Given the description of an element on the screen output the (x, y) to click on. 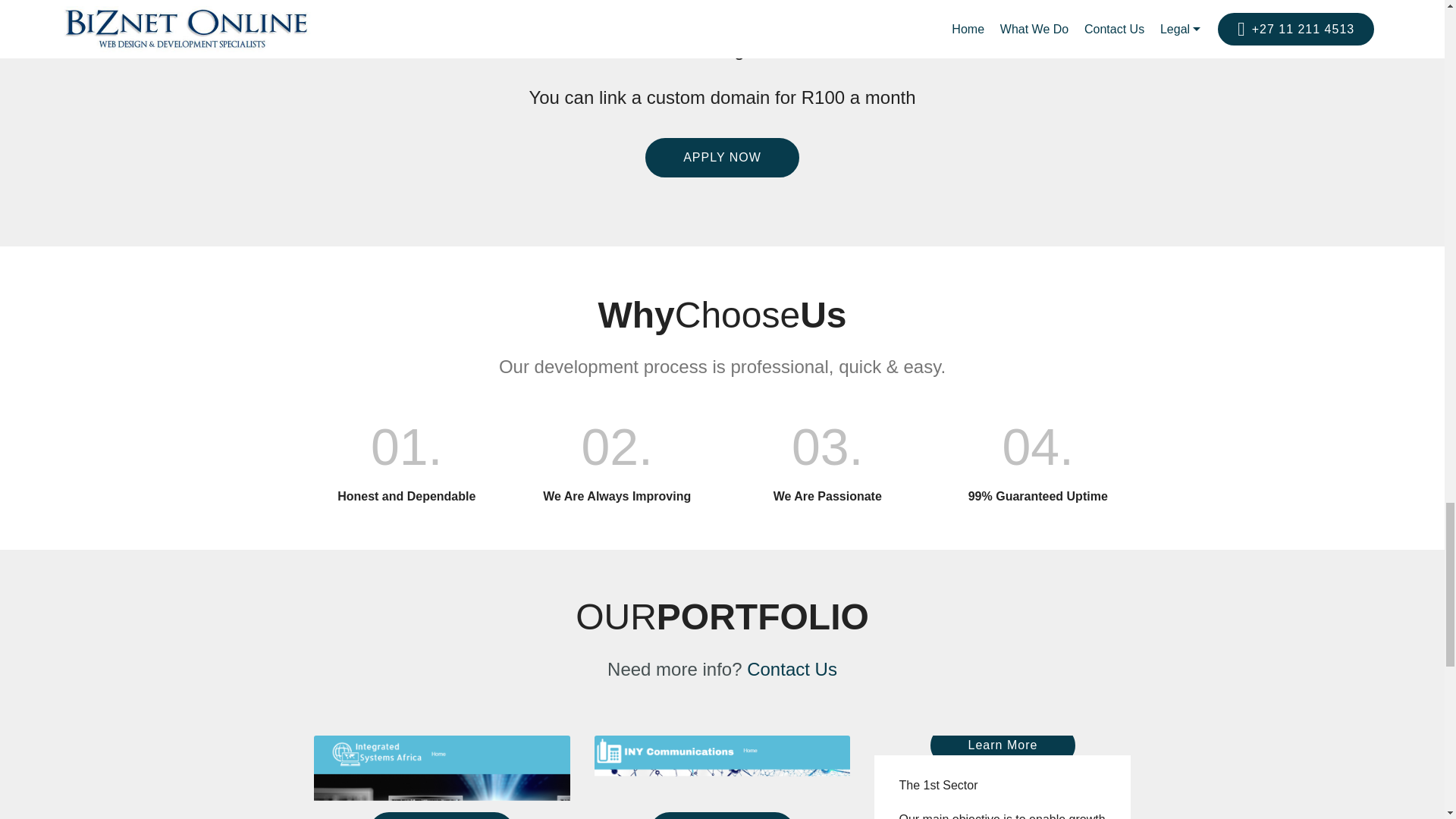
Learn More (1002, 744)
Learn More (721, 815)
INY Comms (722, 777)
ISA IT (442, 777)
APPLY NOW (722, 157)
Contact Us (791, 669)
The 1st Sector (1001, 746)
Learn More (442, 815)
